Given the description of an element on the screen output the (x, y) to click on. 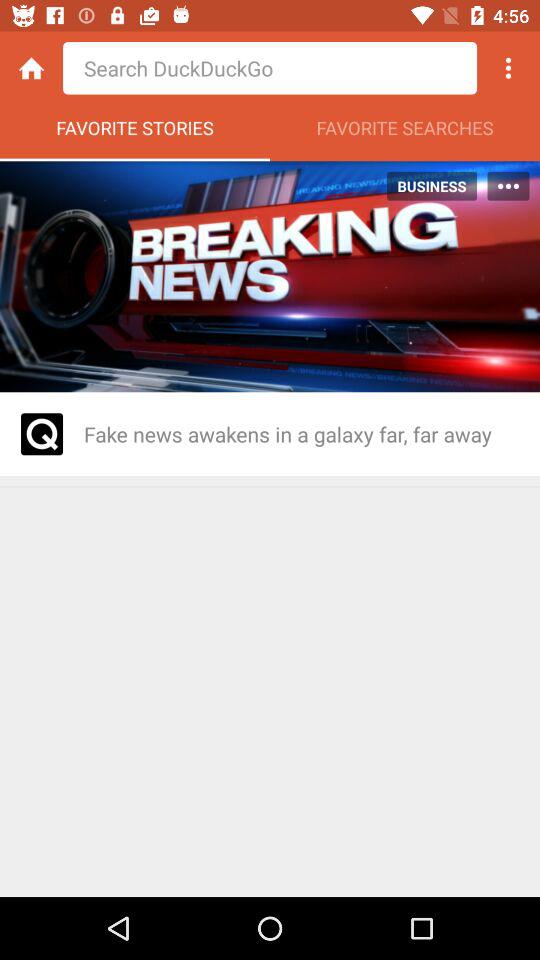
turn on the favorite stories (135, 133)
